Given the description of an element on the screen output the (x, y) to click on. 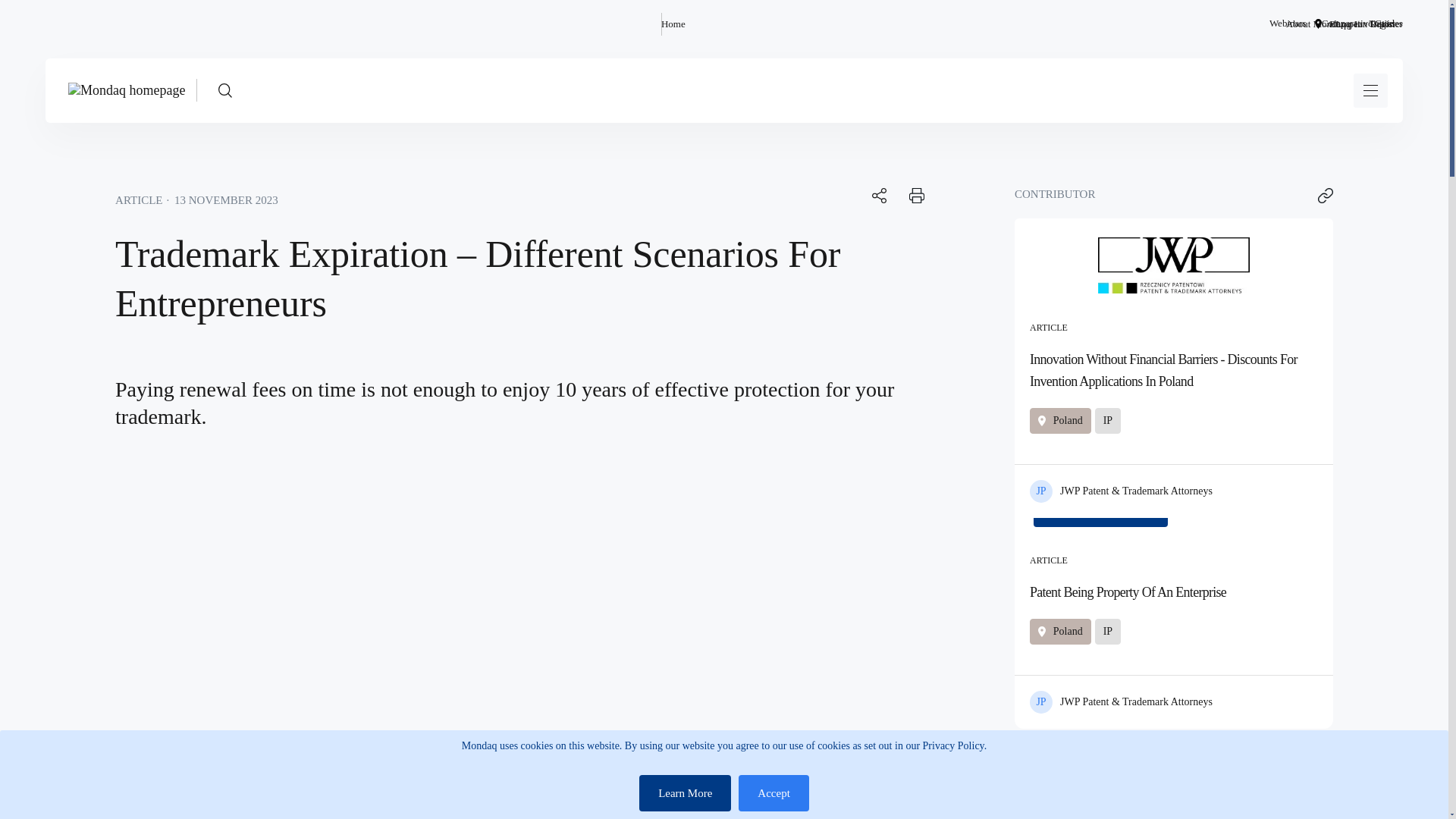
Comparative Guides (1362, 23)
Webinars (1287, 23)
About Mondaq (1315, 24)
Home (673, 24)
